Given the description of an element on the screen output the (x, y) to click on. 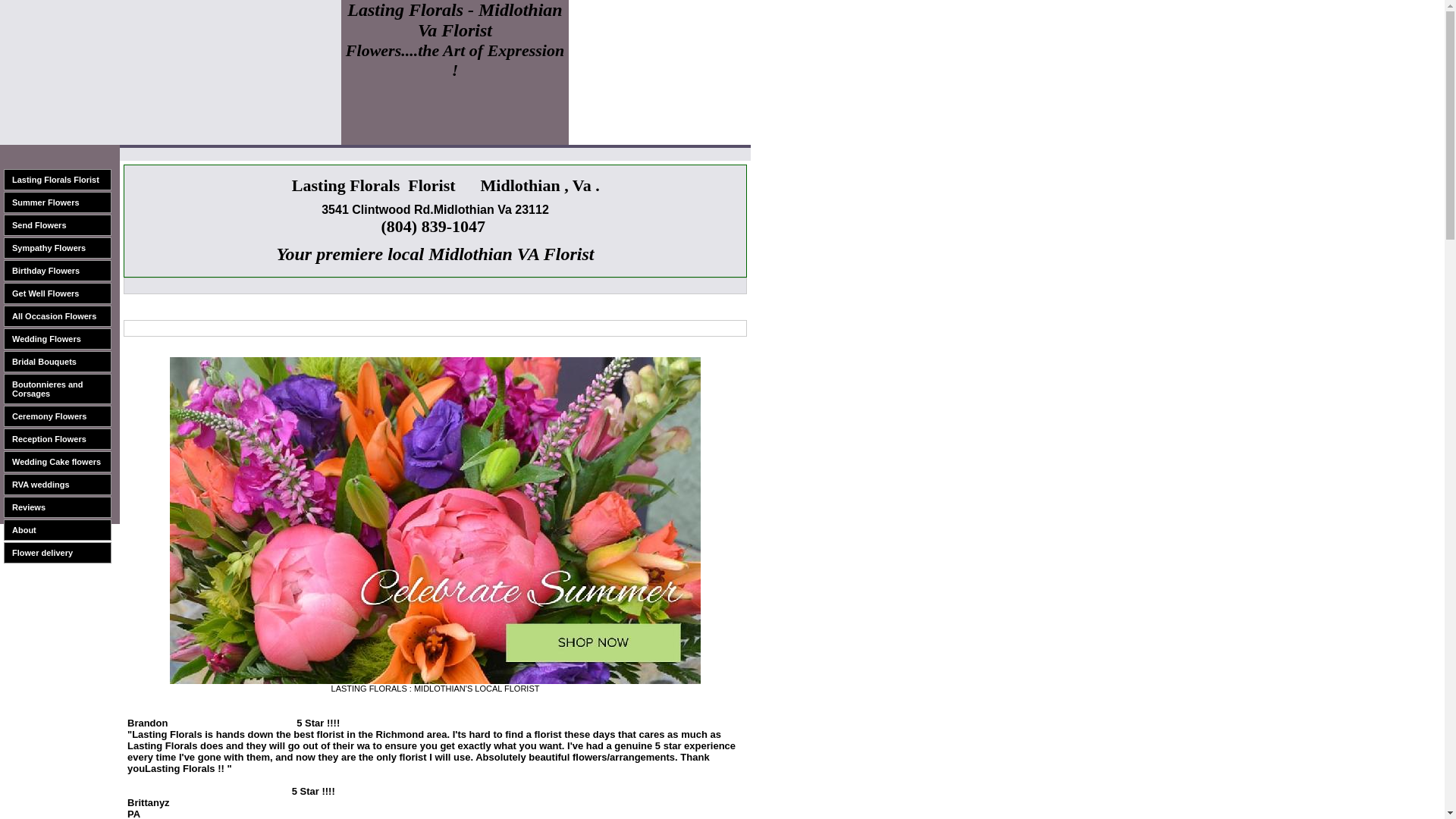
Wedding Cake flowers (58, 461)
All Occasion Flowers (58, 315)
Send Flowers (58, 224)
Birthday Flowers (58, 270)
Summer Flowers (58, 201)
Reviews (58, 506)
Lasting Florals Florist (58, 179)
Flower delivery (58, 552)
Ceremony Flowers (58, 415)
Wedding Flowers (58, 338)
Get Well Flowers (58, 292)
Boutonnieres and Corsages (58, 388)
Bridal Bouquets (58, 361)
Reception Flowers (58, 438)
About (58, 529)
